Given the description of an element on the screen output the (x, y) to click on. 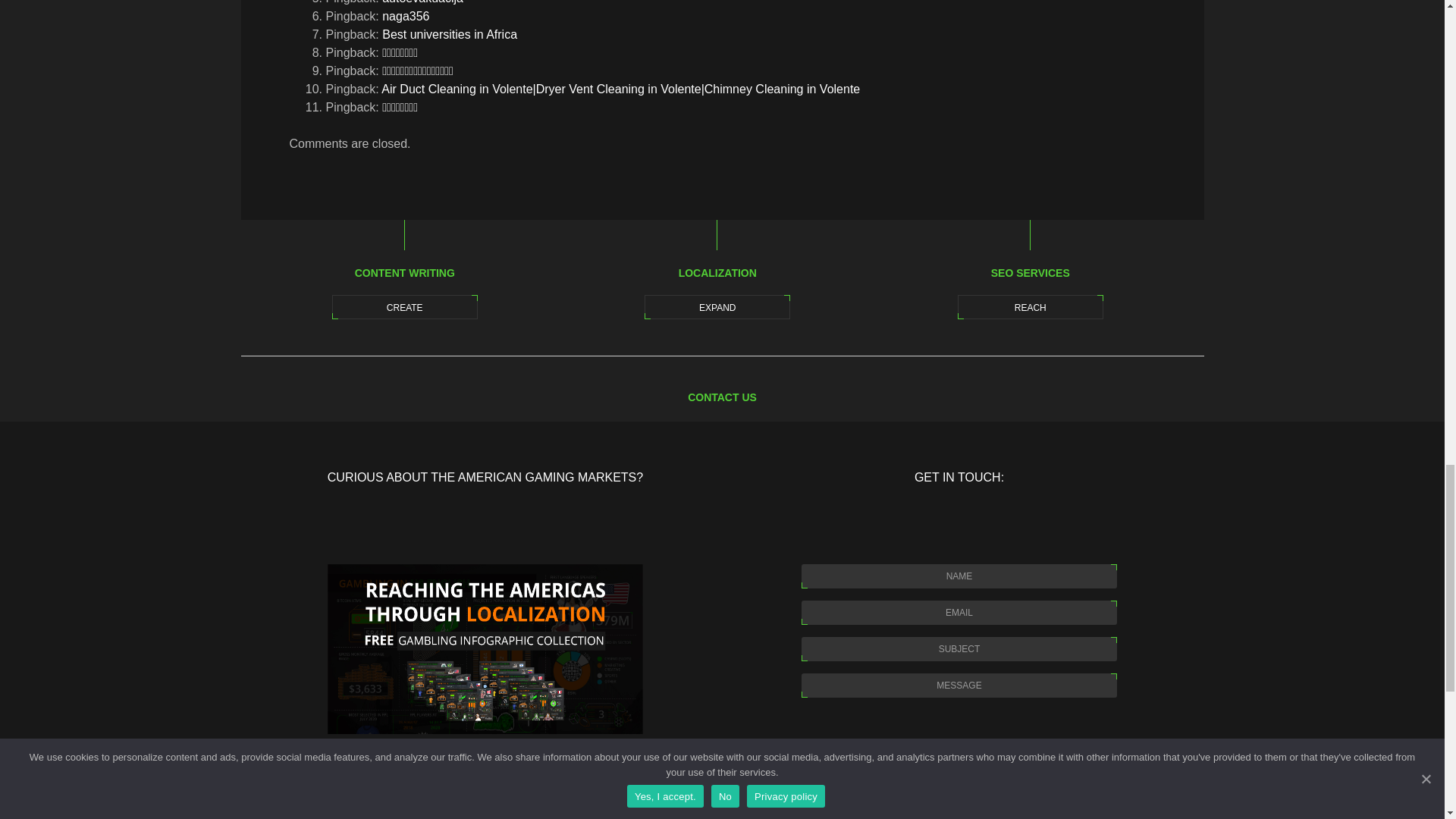
Submit (958, 814)
